Given the description of an element on the screen output the (x, y) to click on. 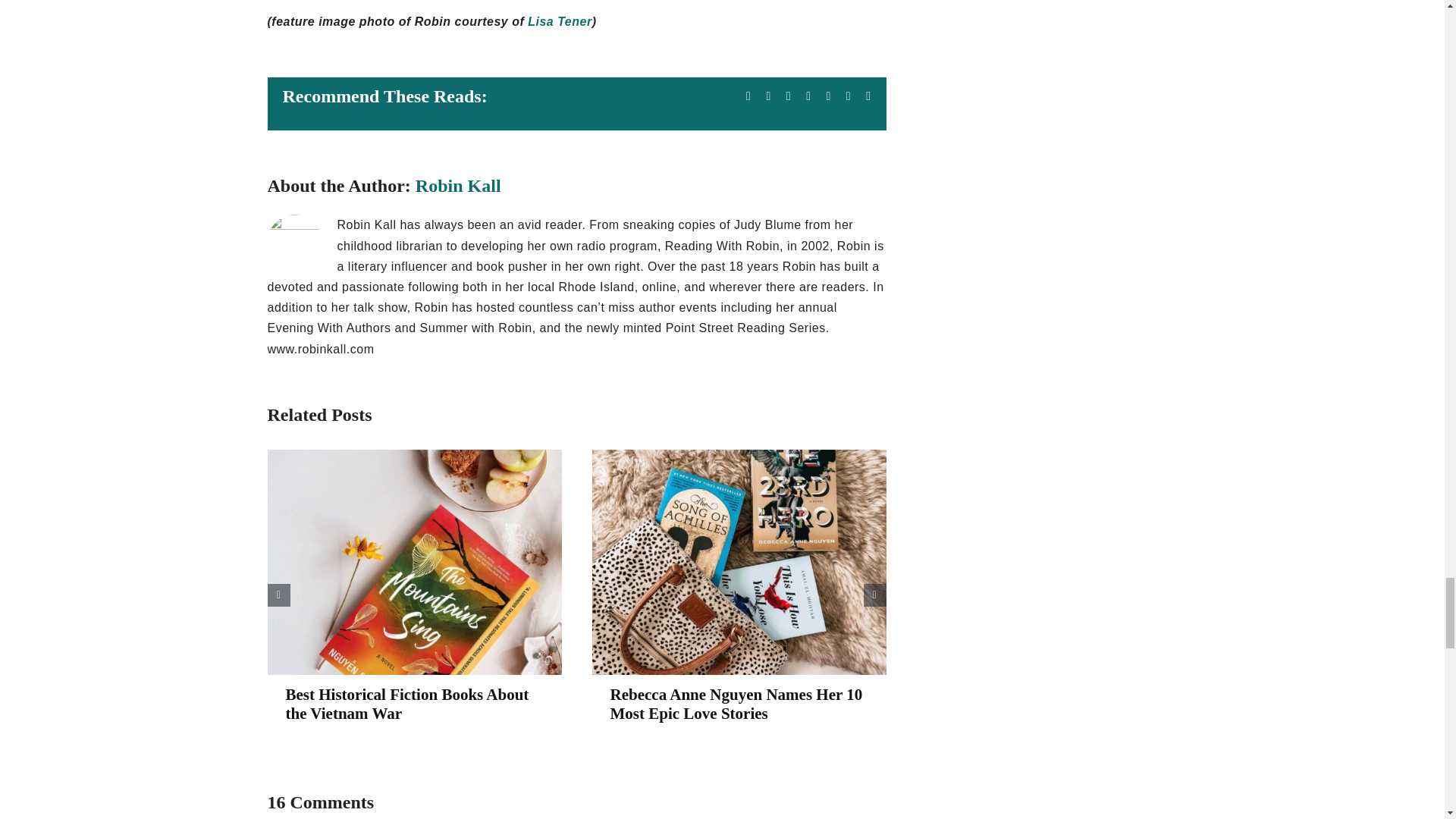
Best Historical Fiction Books About the Vietnam War (406, 703)
Rebecca Anne Nguyen Names Her 10 Most Epic Love Stories (735, 703)
Posts by Robin Kall (457, 185)
